Given the description of an element on the screen output the (x, y) to click on. 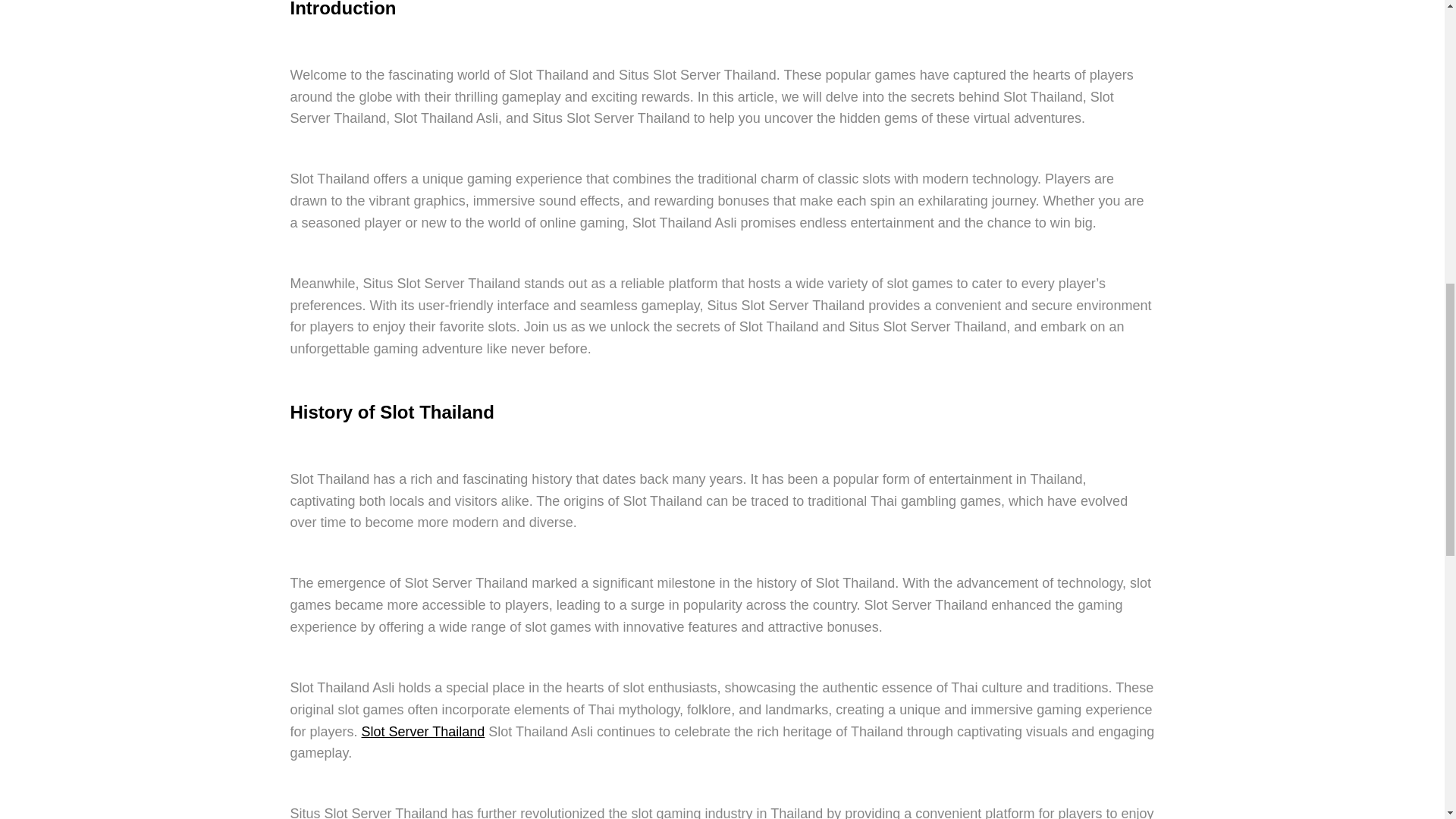
Slot Server Thailand (422, 731)
